Given the description of an element on the screen output the (x, y) to click on. 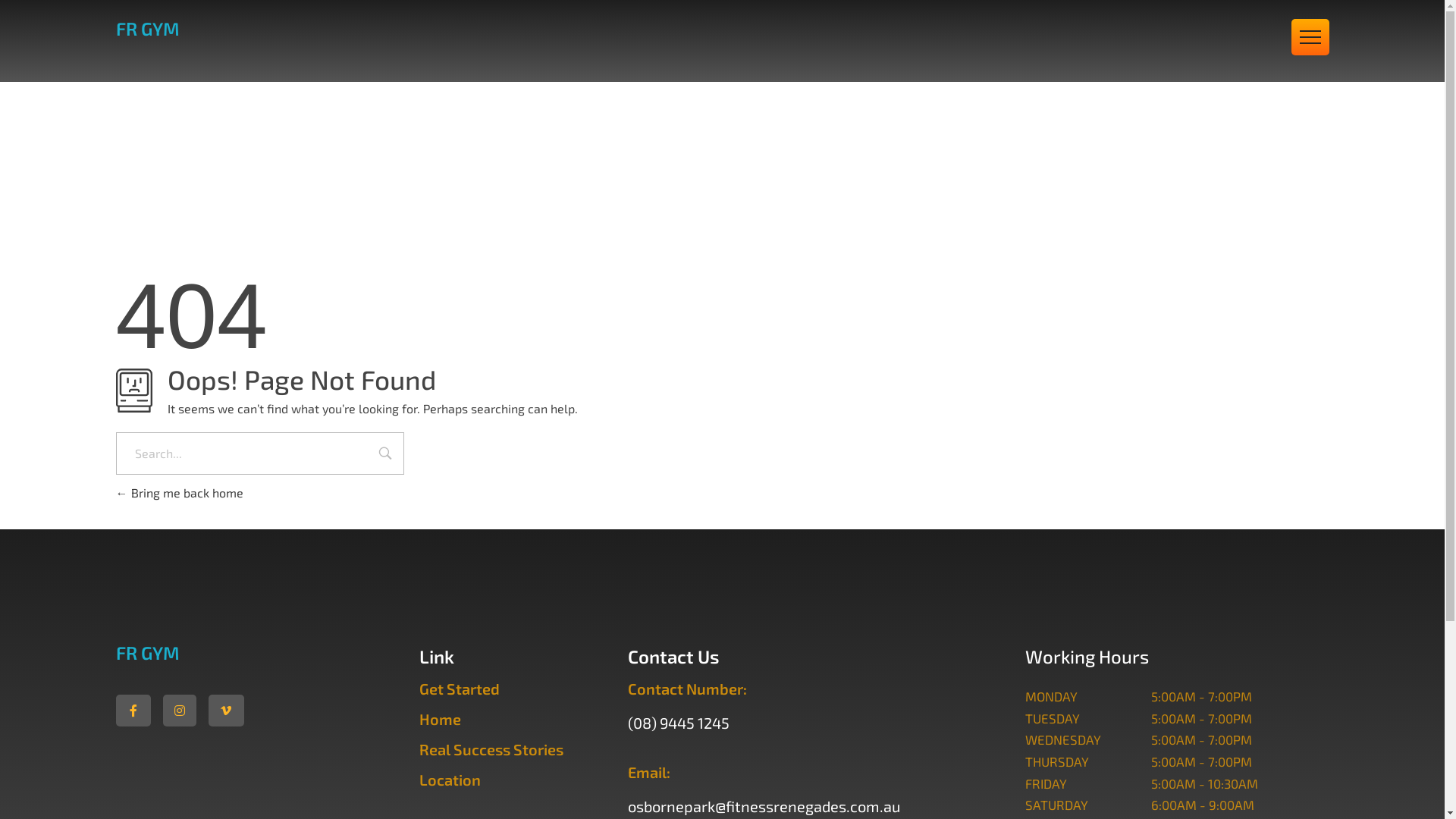
FR GYM Element type: text (146, 652)
Bring me back home Element type: text (178, 492)
Get Started Element type: text (458, 688)
Real Success Stories Element type: text (490, 749)
Search Element type: text (385, 454)
Location Element type: text (449, 779)
FR GYM Element type: text (146, 28)
Home Element type: text (439, 718)
